Given the description of an element on the screen output the (x, y) to click on. 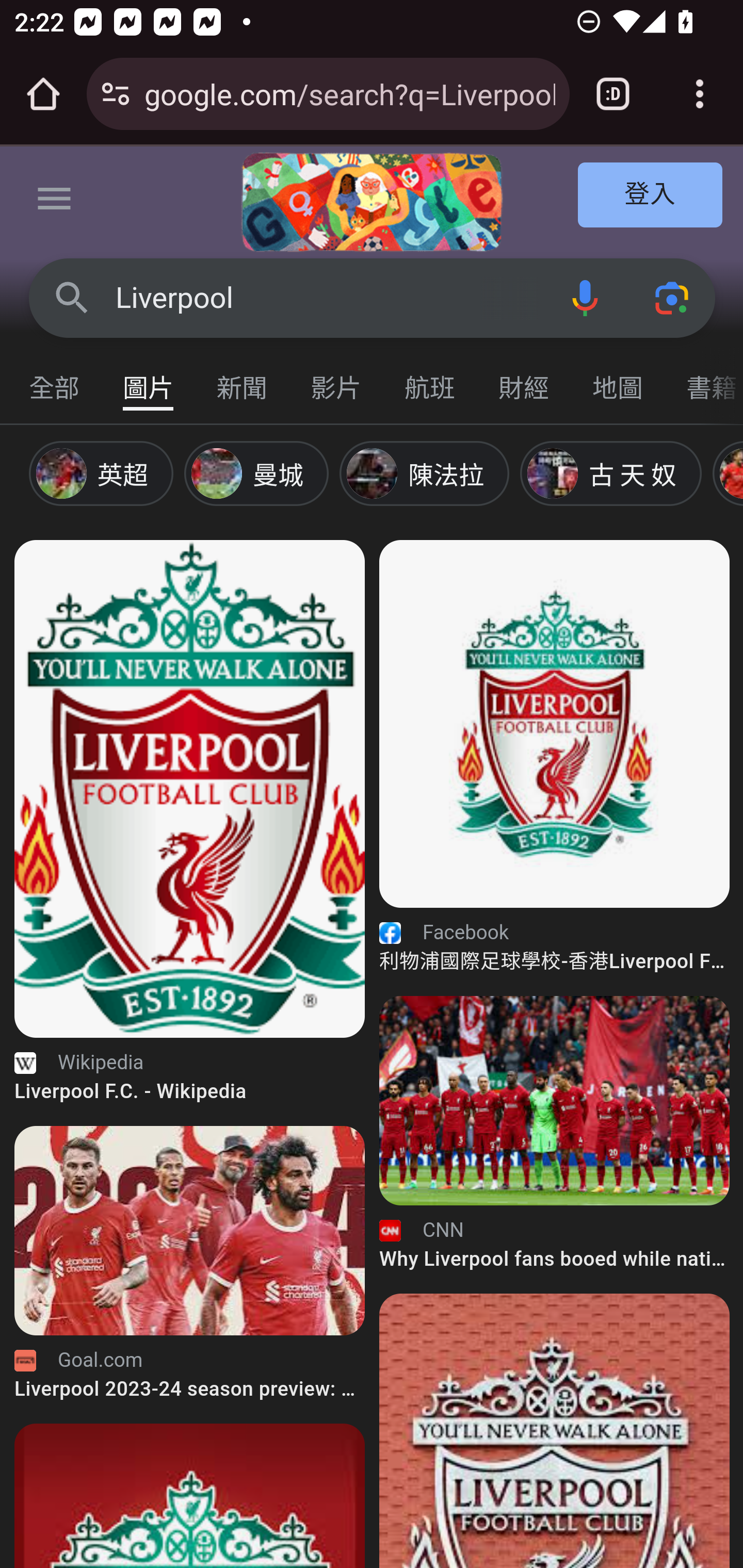
Open the home page (43, 93)
Connection is secure (115, 93)
Switch or close tabs (612, 93)
Customize and control Google Chrome (699, 93)
2024 年國際婦女節 (371, 202)
主選單 (54, 202)
登入 (650, 195)
Google 搜尋 (71, 296)
使用相機或相片搜尋 (672, 296)
Liverpool (328, 297)
全部 (54, 378)
新聞 (242, 378)
影片 (336, 378)
航班 (430, 378)
財經 (524, 378)
地圖 (618, 378)
書籍 (703, 378)
新增英超 英超 (106, 473)
新增曼城 曼城 (262, 473)
新增陳法拉 陳法拉 (430, 473)
新增古 天 奴 古 天 奴 (616, 473)
Liverpool F.C. - Wikipedia (190, 787)
Liverpool FC – Wikipedia (554, 1430)
